Given the description of an element on the screen output the (x, y) to click on. 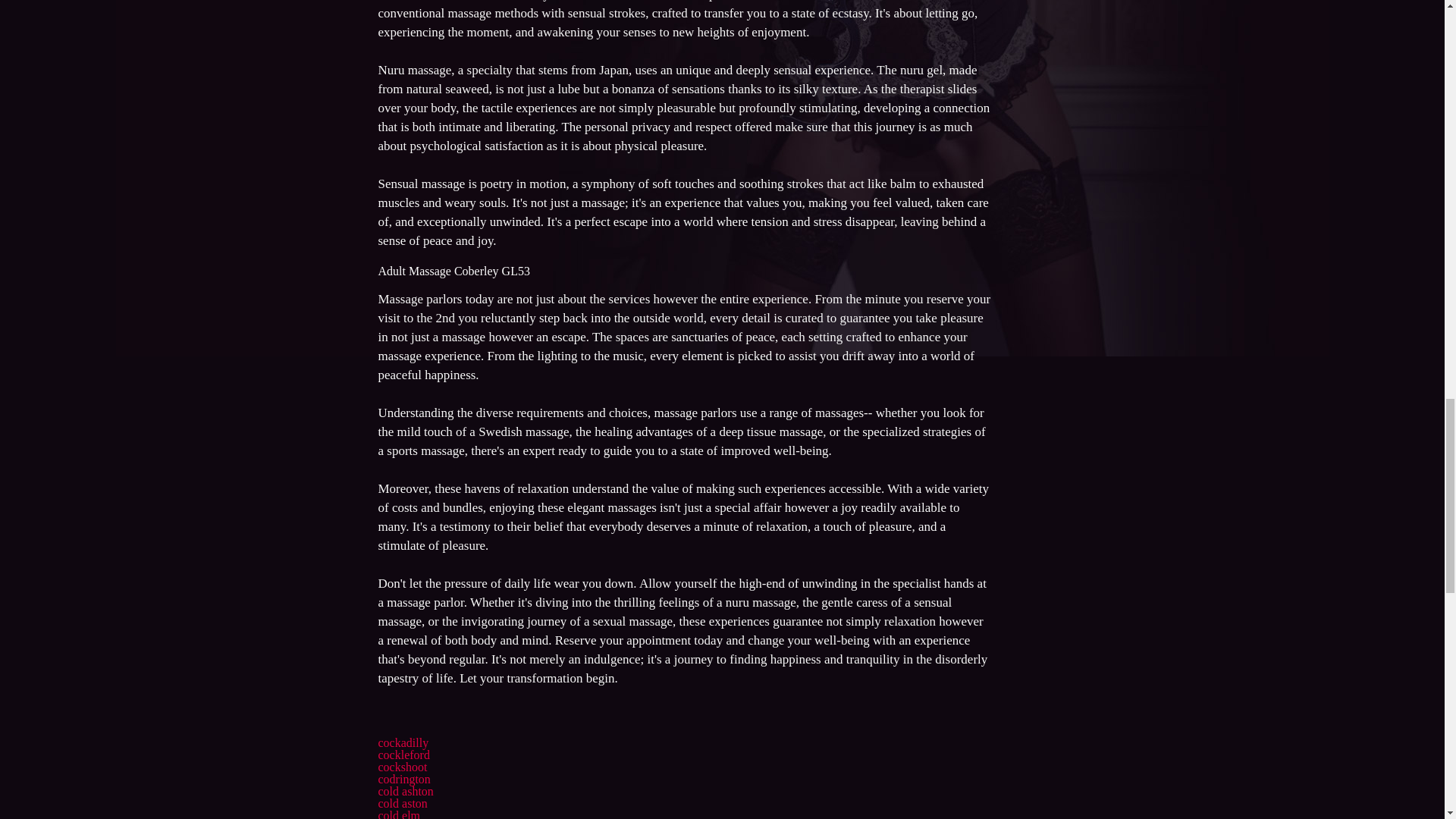
cockadilly (402, 742)
cold ashton (404, 790)
cold elm (398, 814)
cockleford (403, 754)
cold aston (401, 802)
cockshoot (401, 766)
codrington (403, 779)
